Given the description of an element on the screen output the (x, y) to click on. 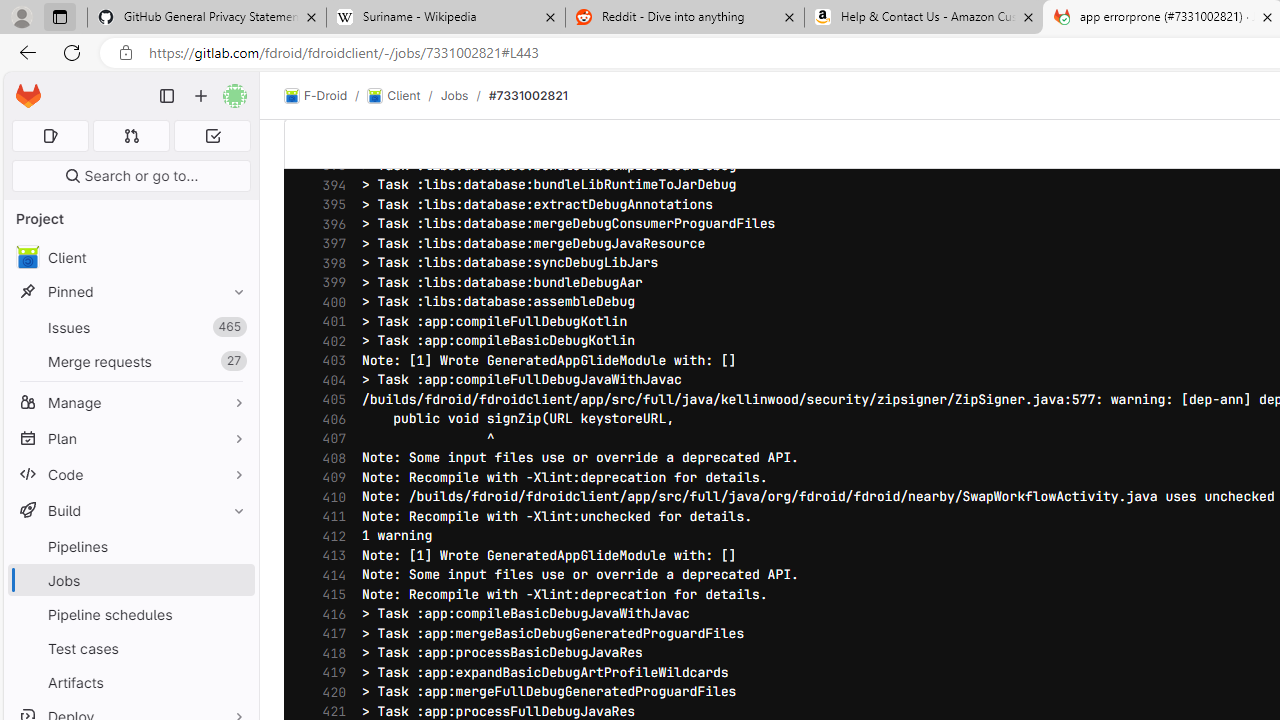
391 (329, 126)
Pin Jobs (234, 580)
397 (329, 244)
Pinned (130, 291)
418 (329, 652)
#7331002821 (527, 95)
Pipelines (130, 546)
Suriname - Wikipedia (445, 17)
Build (130, 510)
407 (329, 439)
Client (394, 96)
To-Do list 0 (212, 136)
Jobs (454, 95)
413 (329, 555)
